Given the description of an element on the screen output the (x, y) to click on. 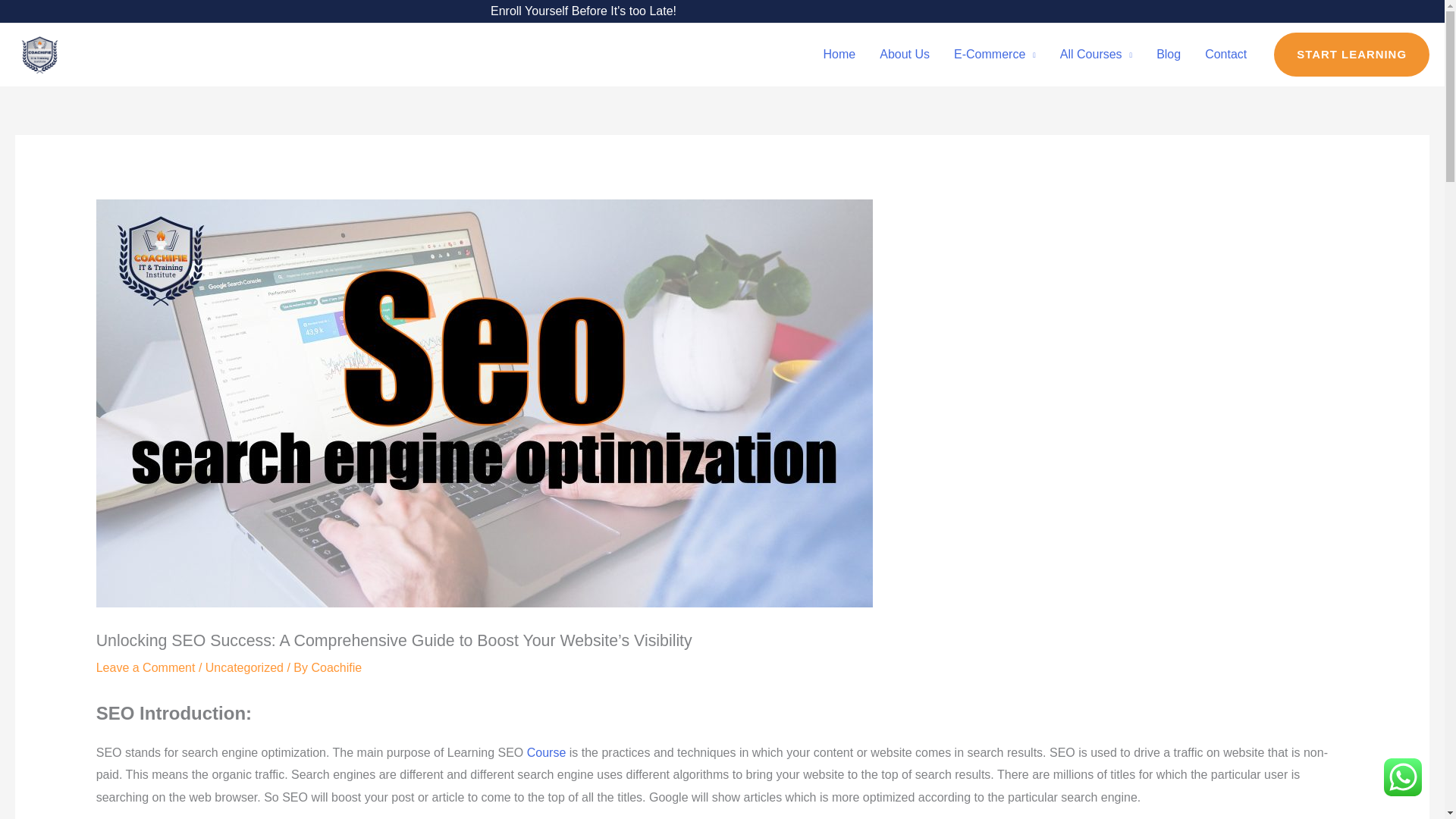
E-Commerce (995, 54)
All Courses (1096, 54)
Home (838, 54)
View all posts by Coachifie (336, 667)
About Us (904, 54)
